Given the description of an element on the screen output the (x, y) to click on. 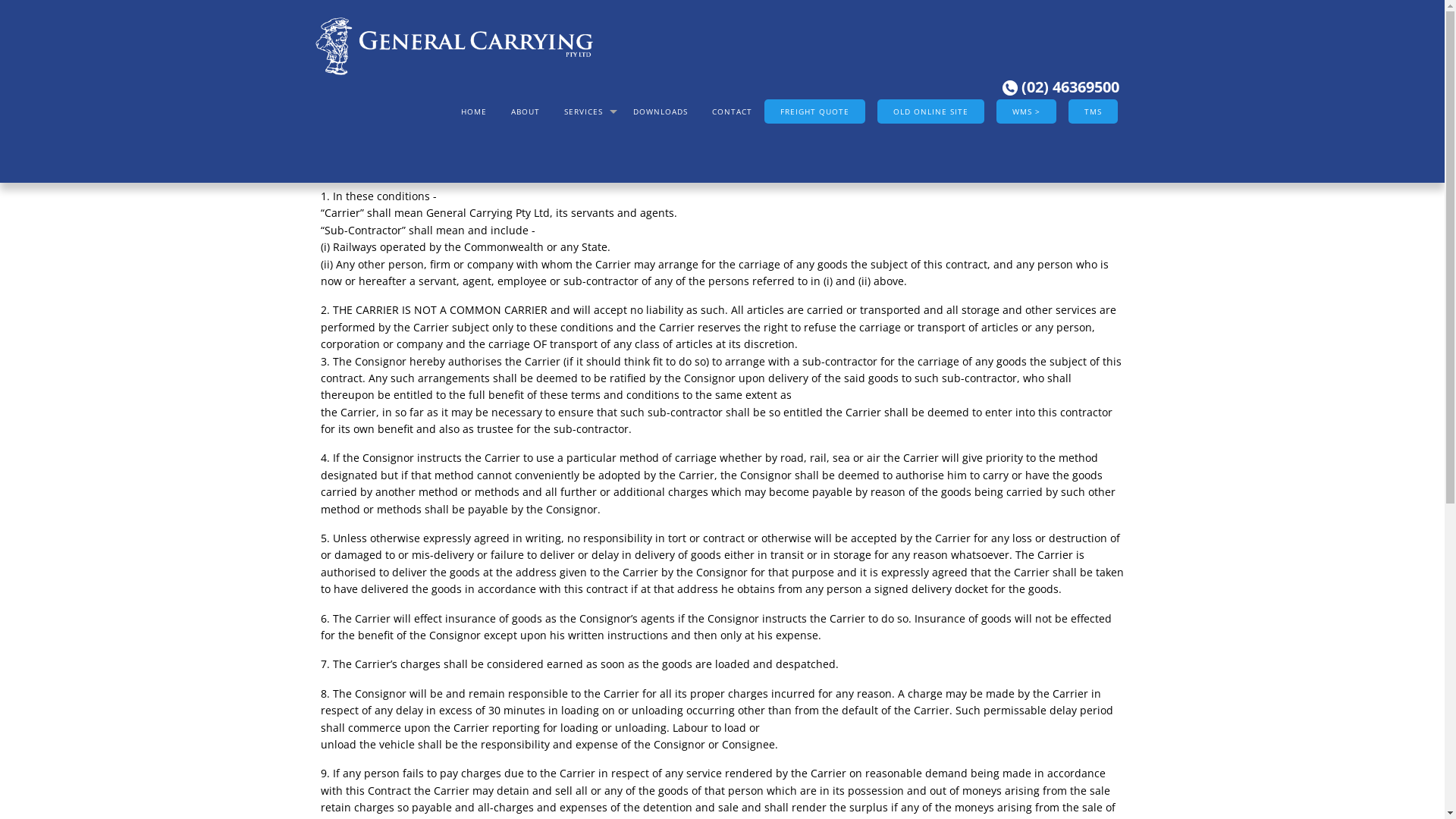
TMS Element type: text (1092, 111)
DOWNLOADS Element type: text (659, 110)
SERVICES Element type: text (586, 110)
WMS > Element type: text (1026, 111)
HOME Element type: text (473, 110)
FREIGHT QUOTE Element type: text (814, 111)
ABOUT Element type: text (525, 110)
OLD ONLINE SITE Element type: text (929, 111)
(02) 46369500 Element type: text (1060, 85)
CONTACT Element type: text (731, 110)
